Given the description of an element on the screen output the (x, y) to click on. 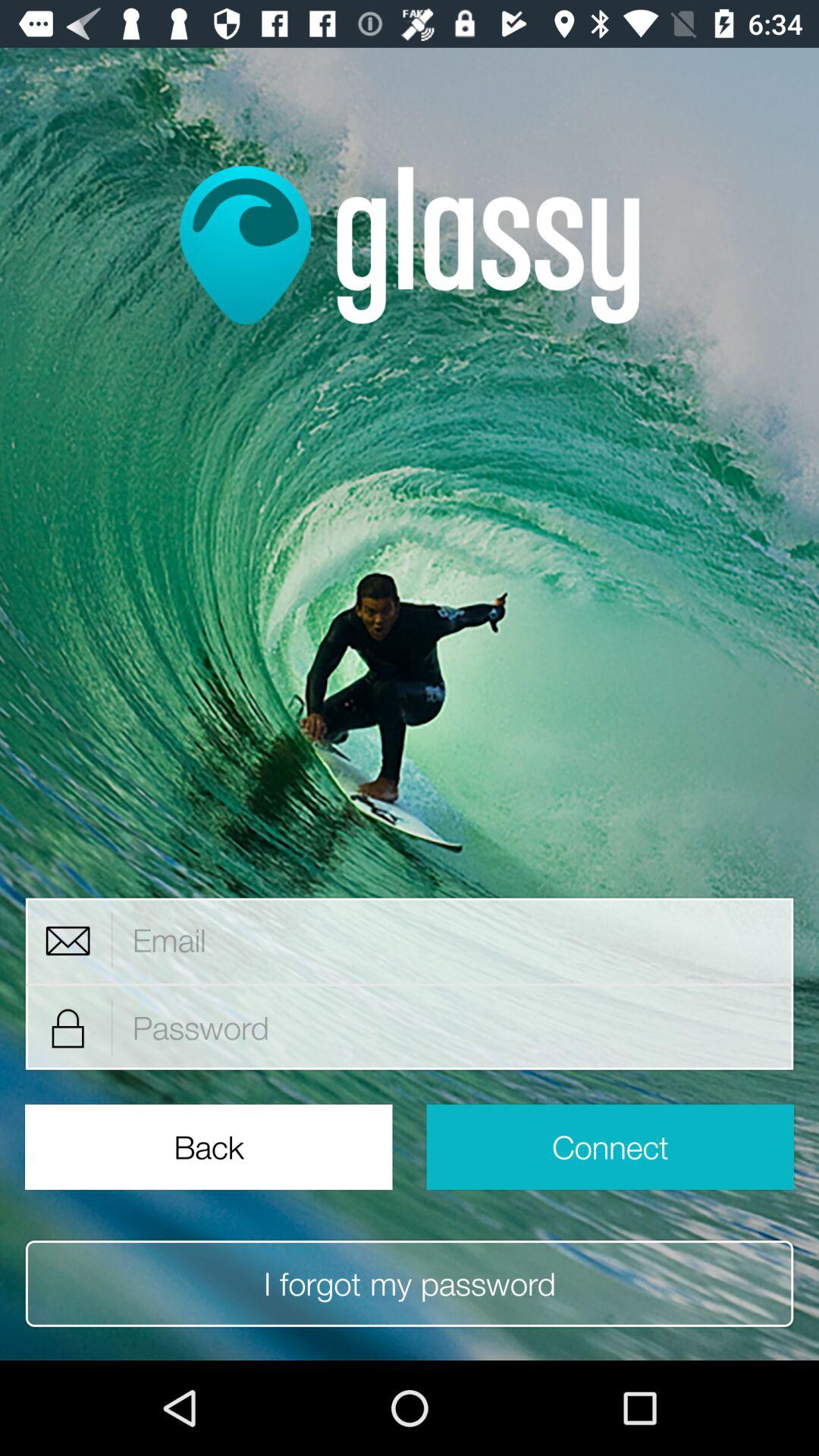
enter password (453, 1027)
